Given the description of an element on the screen output the (x, y) to click on. 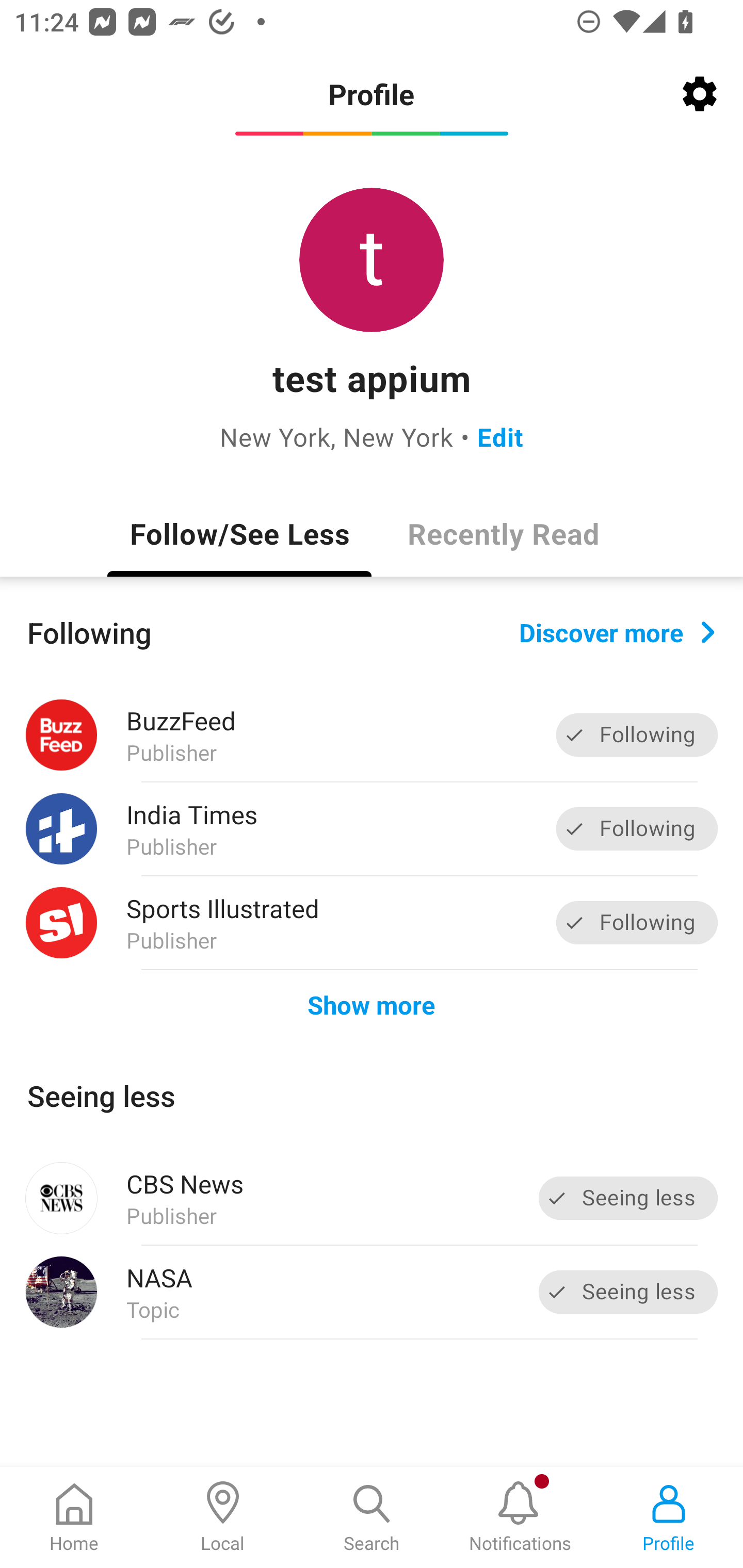
Settings (699, 93)
Edit (500, 436)
Recently Read (503, 533)
Discover more (617, 631)
BuzzFeed Publisher Following (371, 735)
Following (636, 735)
India Times Publisher Following (371, 829)
Following (636, 828)
Sports Illustrated Publisher Following (371, 922)
Following (636, 922)
Show more (371, 1004)
CBS News Publisher Seeing less (371, 1197)
Seeing less (627, 1197)
NASA Topic Seeing less (371, 1291)
Seeing less (627, 1291)
Home (74, 1517)
Local (222, 1517)
Search (371, 1517)
Notifications, New notification Notifications (519, 1517)
